Given the description of an element on the screen output the (x, y) to click on. 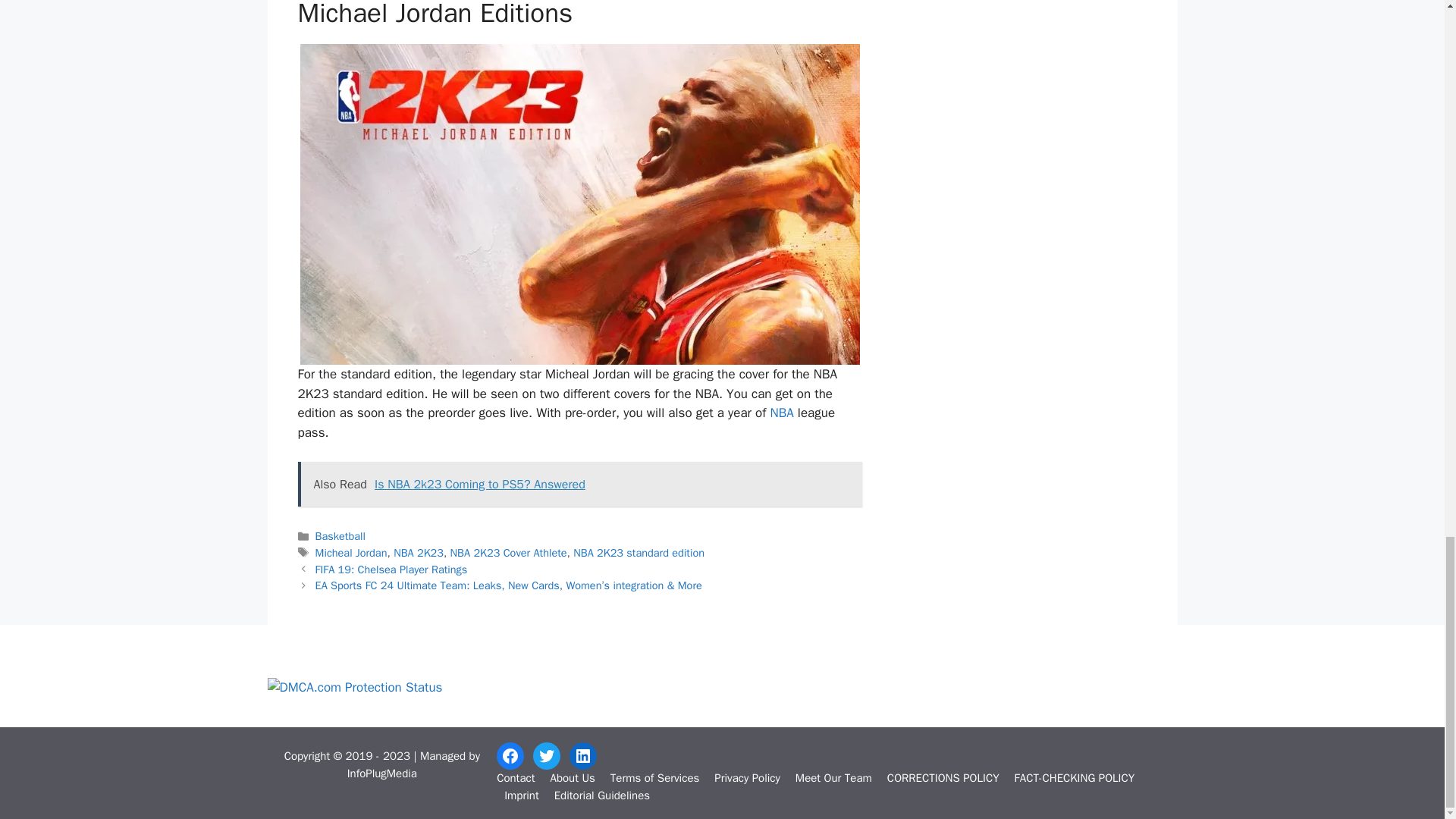
Basketball (340, 535)
DMCA.com Protection Status (354, 687)
LinkedIn (582, 755)
Facebook (510, 755)
NBA 2K23 (418, 552)
NBA (783, 412)
Micheal Jordan (351, 552)
FIFA 19: Chelsea Player Ratings (391, 569)
Twitter (546, 755)
NBA 2K23 standard edition (638, 552)
